Given the description of an element on the screen output the (x, y) to click on. 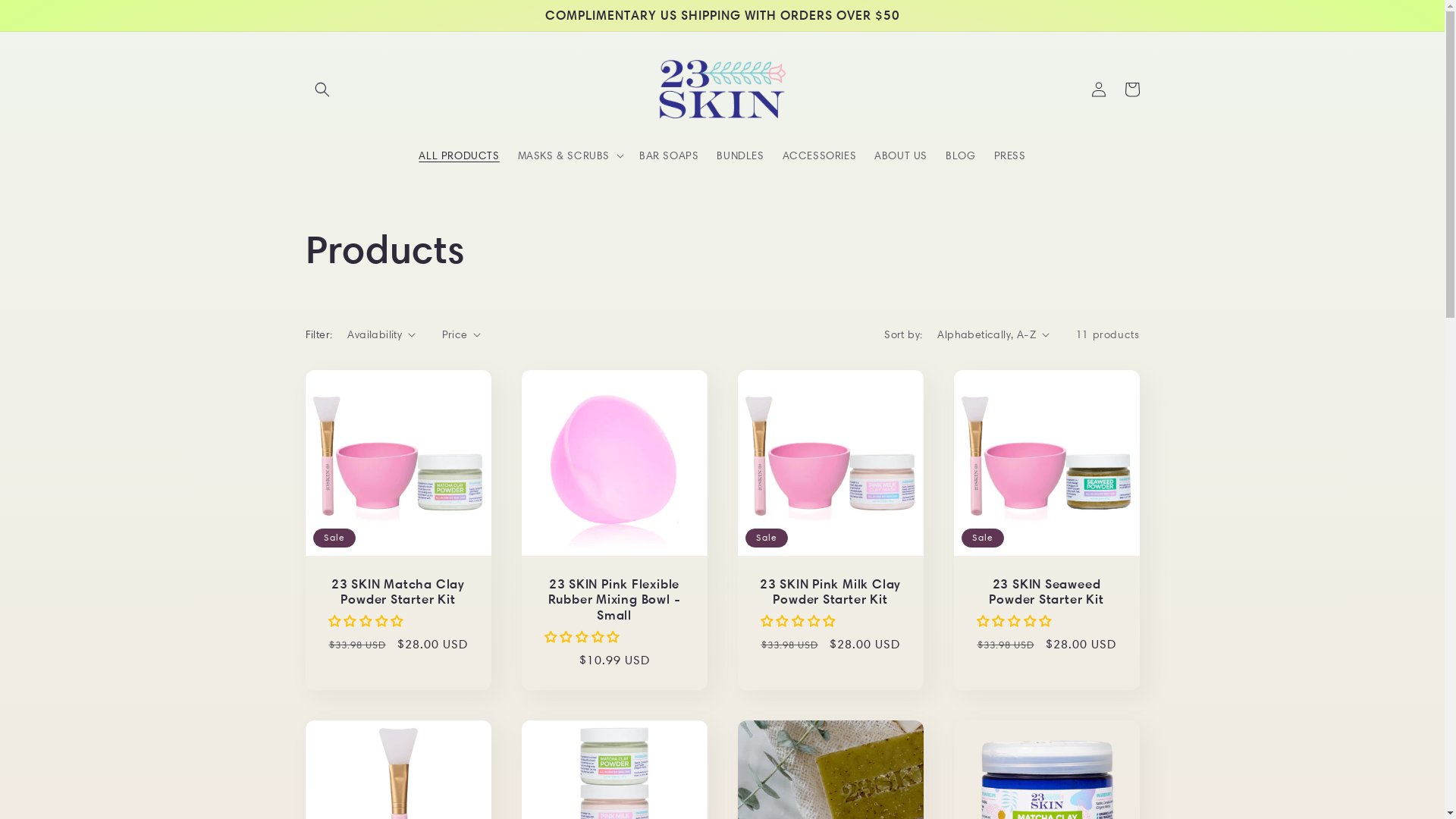
23 SKIN Pink Flexible Rubber Mixing Bowl - Small Element type: text (614, 599)
BAR SOAPS Element type: text (668, 155)
ABOUT US Element type: text (900, 155)
BUNDLES Element type: text (739, 155)
ACCESSORIES Element type: text (819, 155)
ALL PRODUCTS Element type: text (458, 155)
PRESS Element type: text (1010, 155)
BLOG Element type: text (960, 155)
Log in Element type: text (1097, 89)
23 SKIN Seaweed Powder Starter Kit Element type: text (1046, 592)
23 SKIN Matcha Clay Powder Starter Kit Element type: text (397, 592)
Cart Element type: text (1131, 89)
23 SKIN Pink Milk Clay Powder Starter Kit Element type: text (829, 592)
